Given the description of an element on the screen output the (x, y) to click on. 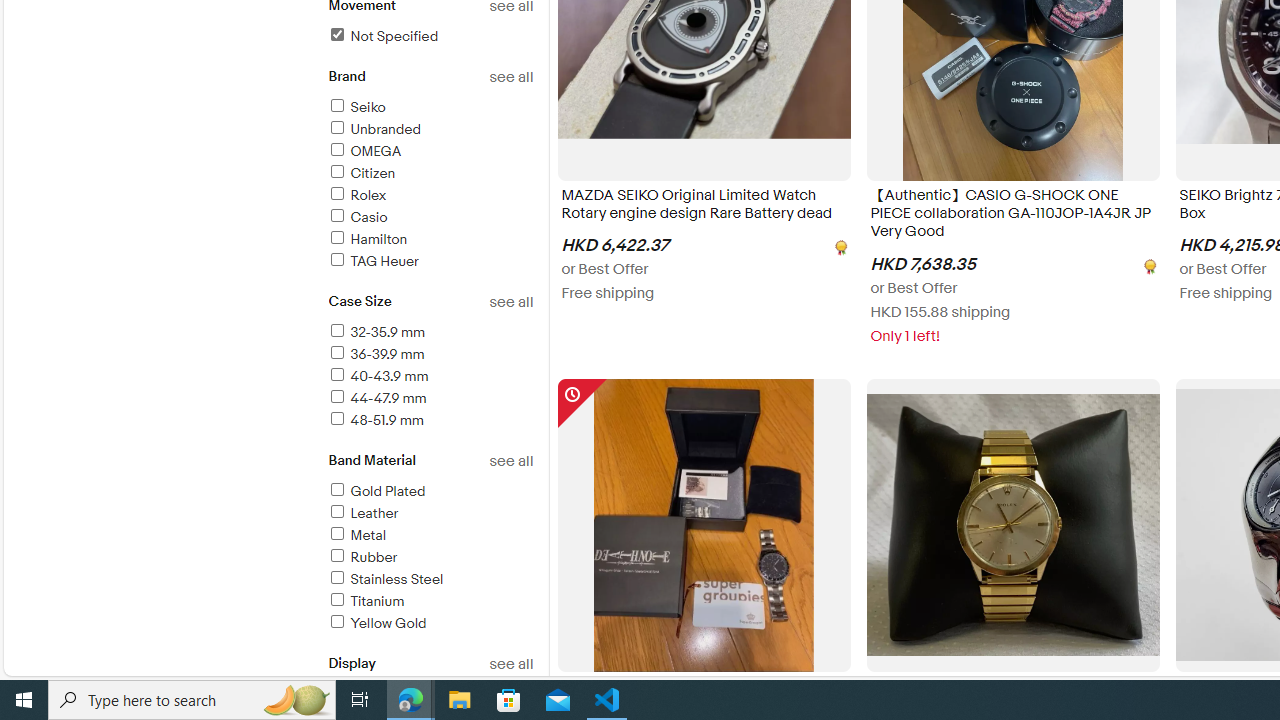
48-51.9 mm (374, 420)
Hamilton (430, 240)
Seiko (430, 108)
Rubber (430, 558)
TAG Heuer (372, 261)
Stainless Steel (385, 579)
44-47.9 mm (376, 398)
Not Specified Filter Applied (382, 36)
Titanium (430, 602)
Unbranded (374, 129)
Not SpecifiedFilter Applied (430, 37)
See all brand refinements (510, 77)
Gold Plated (376, 491)
